Given the description of an element on the screen output the (x, y) to click on. 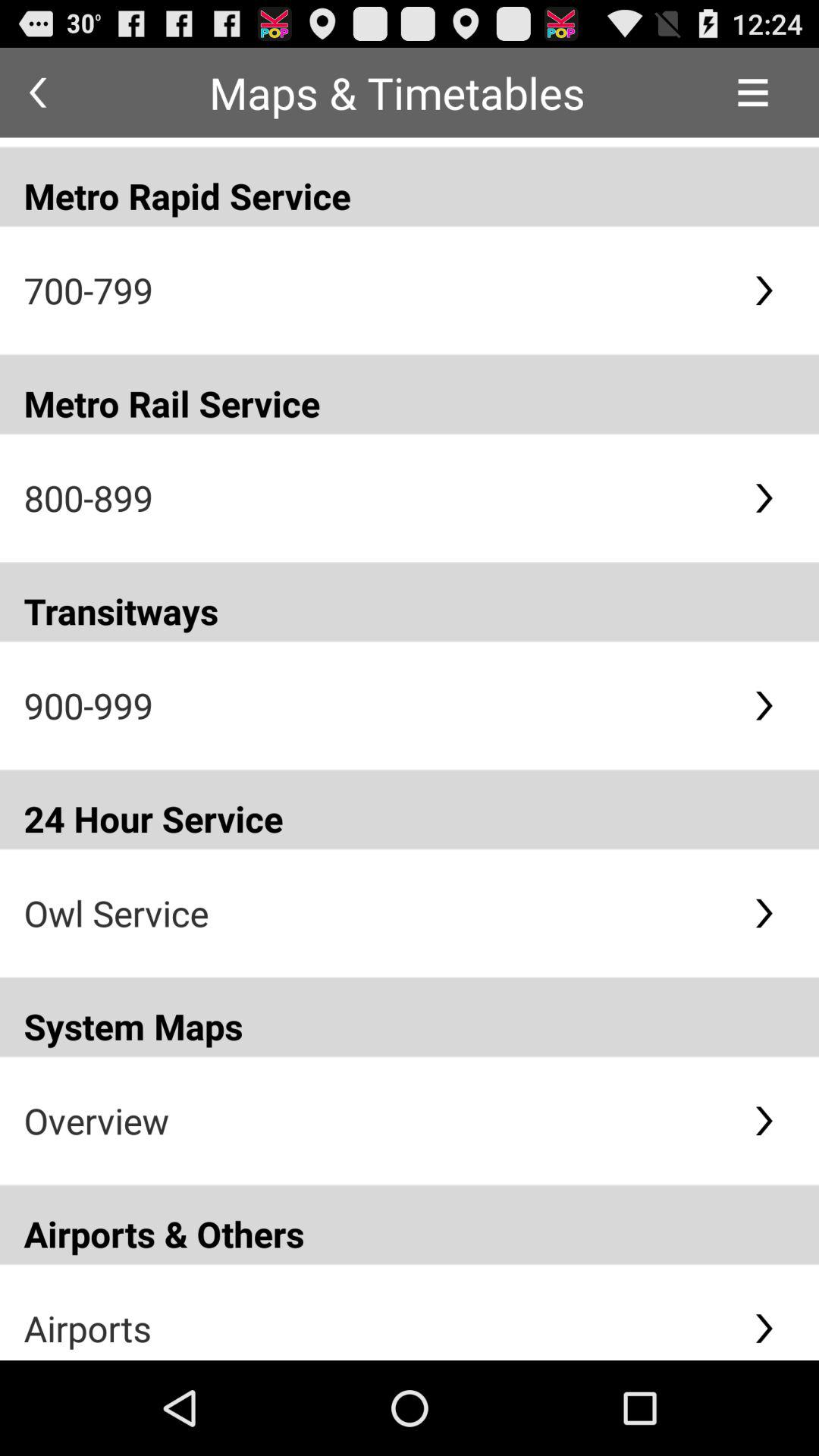
turn off system maps icon (409, 1017)
